Given the description of an element on the screen output the (x, y) to click on. 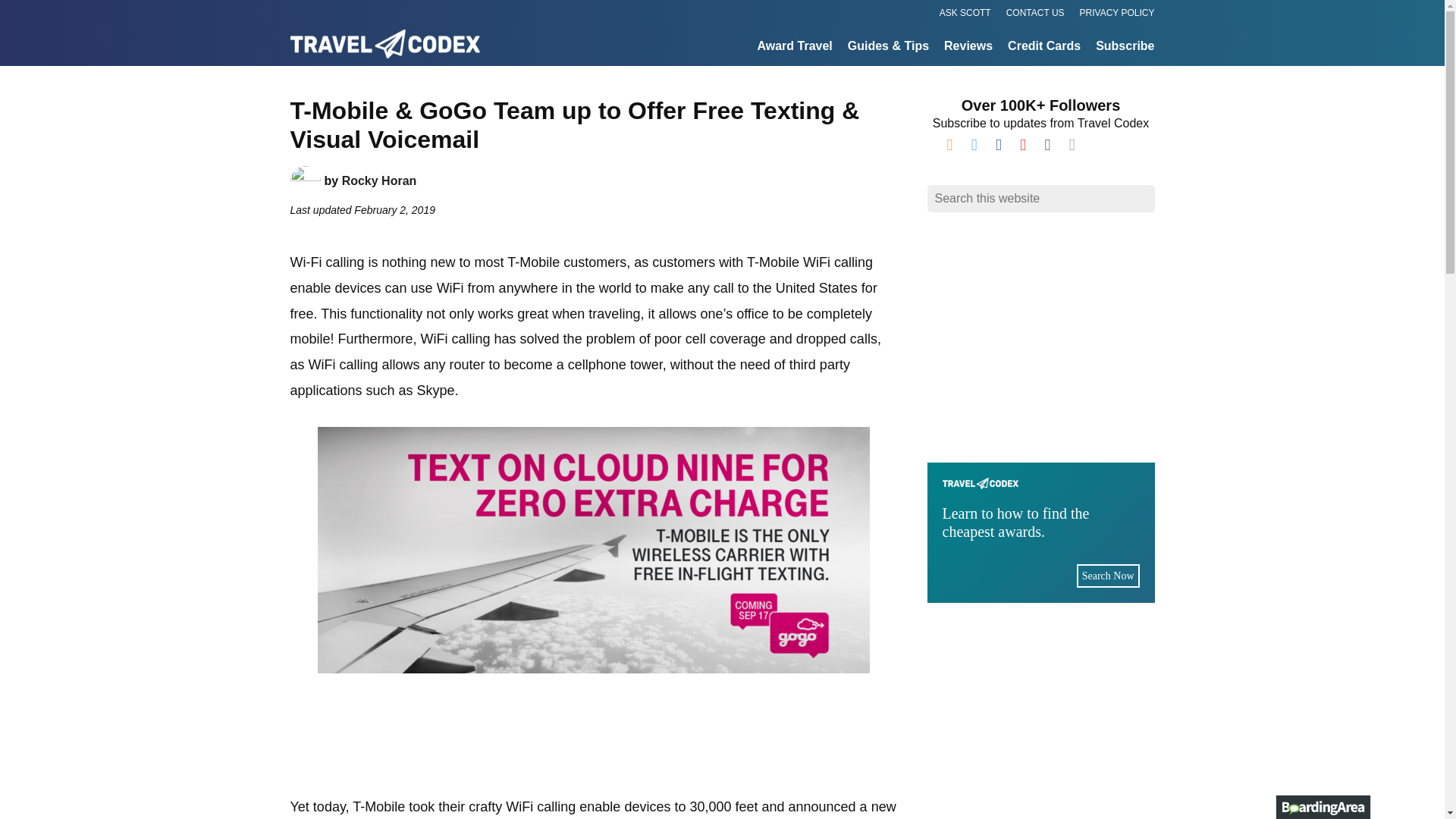
Travel Codex (312, 70)
CONTACT US (1035, 13)
PRIVACY POLICY (1117, 13)
Award Travel (794, 47)
Rocky Horan (379, 180)
Reviews (967, 47)
Subscribe (1125, 47)
ASK SCOTT (1040, 532)
Skip to primary navigation (965, 13)
